Given the description of an element on the screen output the (x, y) to click on. 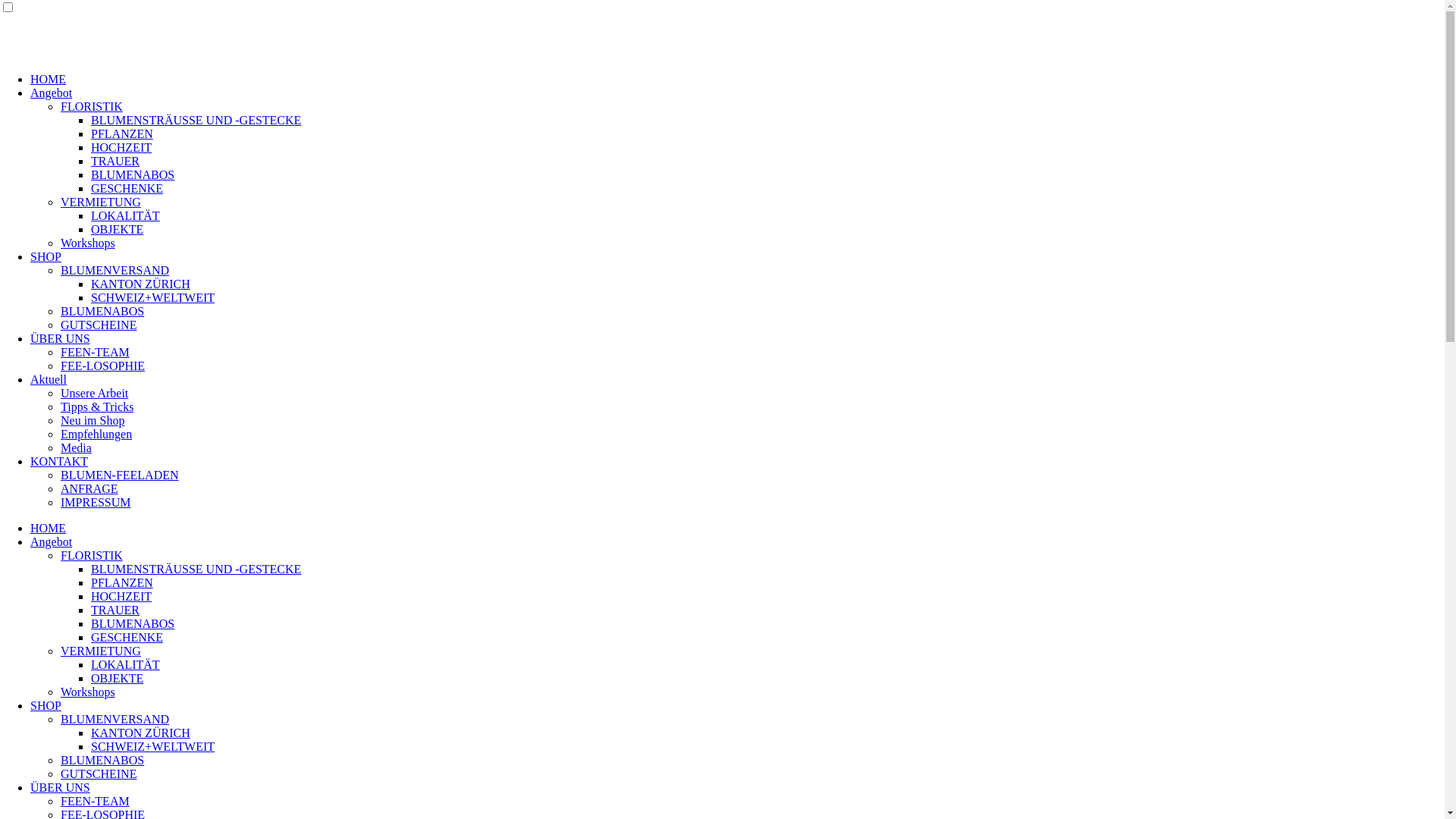
GUTSCHEINE Element type: text (98, 773)
BLUMENABOS Element type: text (102, 310)
HOCHZEIT Element type: text (121, 147)
Angebot Element type: text (51, 541)
PFLANZEN Element type: text (122, 582)
BLUMENVERSAND Element type: text (114, 269)
SCHWEIZ+WELTWEIT Element type: text (152, 746)
VERMIETUNG Element type: text (100, 201)
Workshops Element type: text (87, 691)
GESCHENKE Element type: text (127, 636)
GUTSCHEINE Element type: text (98, 324)
FEE-LOSOPHIE Element type: text (102, 365)
OBJEKTE Element type: text (117, 228)
Tipps & Tricks Element type: text (96, 406)
Aktuell Element type: text (48, 379)
BLUMENABOS Element type: text (132, 174)
Empfehlungen Element type: text (95, 433)
VERMIETUNG Element type: text (100, 650)
HOCHZEIT Element type: text (121, 595)
SHOP Element type: text (45, 705)
SCHWEIZ+WELTWEIT Element type: text (152, 297)
FLORISTIK Element type: text (91, 106)
BLUMENABOS Element type: text (132, 623)
PFLANZEN Element type: text (122, 133)
TRAUER Element type: text (115, 609)
Unsere Arbeit Element type: text (94, 392)
TRAUER Element type: text (115, 160)
OBJEKTE Element type: text (117, 677)
GESCHENKE Element type: text (127, 188)
BLUMENVERSAND Element type: text (114, 718)
BLUMENABOS Element type: text (102, 759)
Neu im Shop Element type: text (92, 420)
HOME Element type: text (47, 527)
SHOP Element type: text (45, 256)
Media Element type: text (75, 447)
HOME Element type: text (47, 78)
FEEN-TEAM Element type: text (94, 800)
Angebot Element type: text (51, 92)
KONTAKT Element type: text (58, 461)
FLORISTIK Element type: text (91, 555)
Workshops Element type: text (87, 242)
BLUMEN-FEELADEN Element type: text (119, 474)
ANFRAGE Element type: text (89, 488)
FEEN-TEAM Element type: text (94, 351)
IMPRESSUM Element type: text (95, 501)
